Given the description of an element on the screen output the (x, y) to click on. 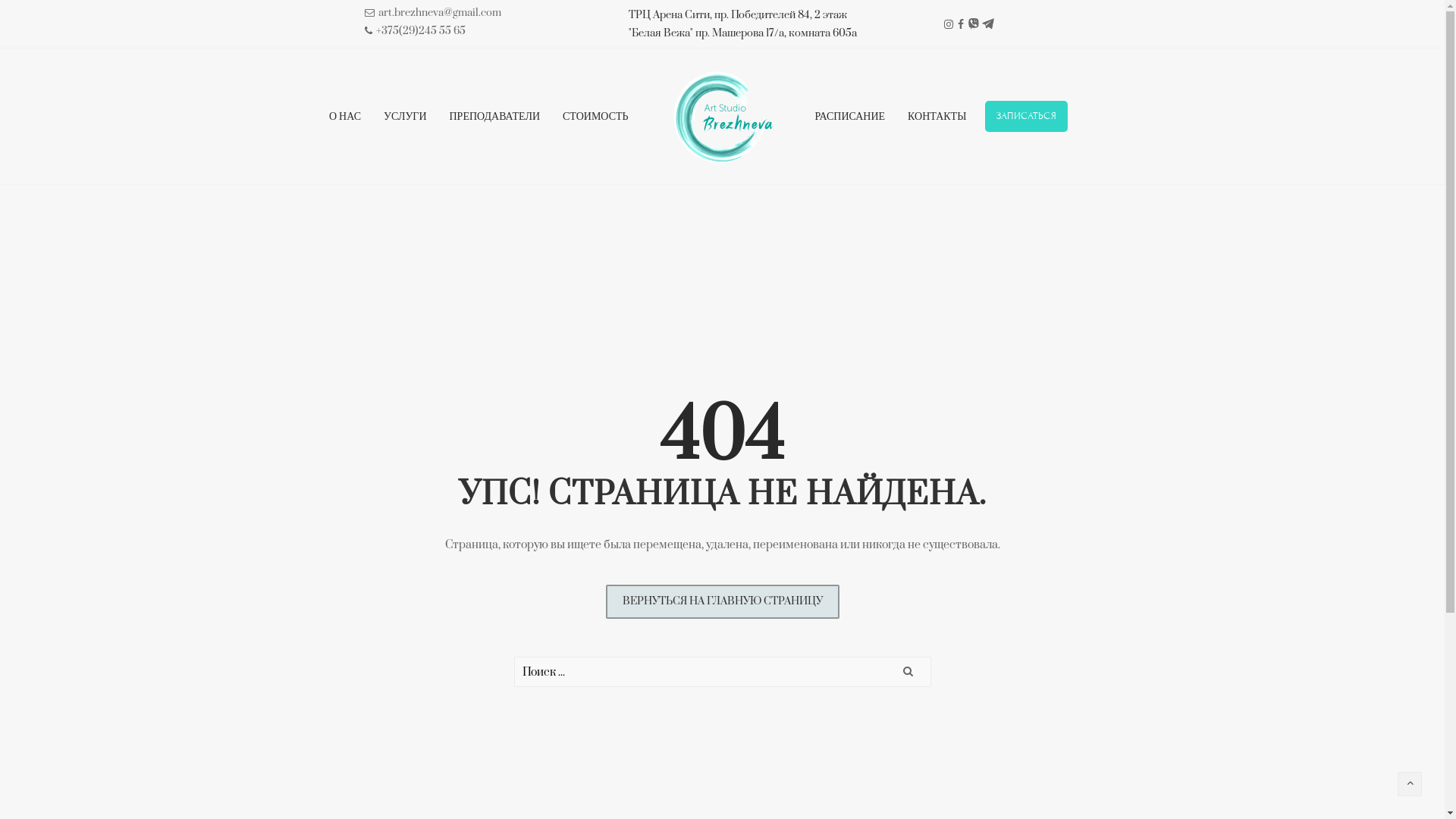
Telegram Element type: hover (988, 22)
+375(29)245 55 65 Element type: text (414, 30)
art.brezhneva@gmail.com Element type: text (432, 12)
Viber Element type: hover (973, 23)
Facebook Element type: hover (960, 23)
Instagram Element type: hover (948, 23)
